Given the description of an element on the screen output the (x, y) to click on. 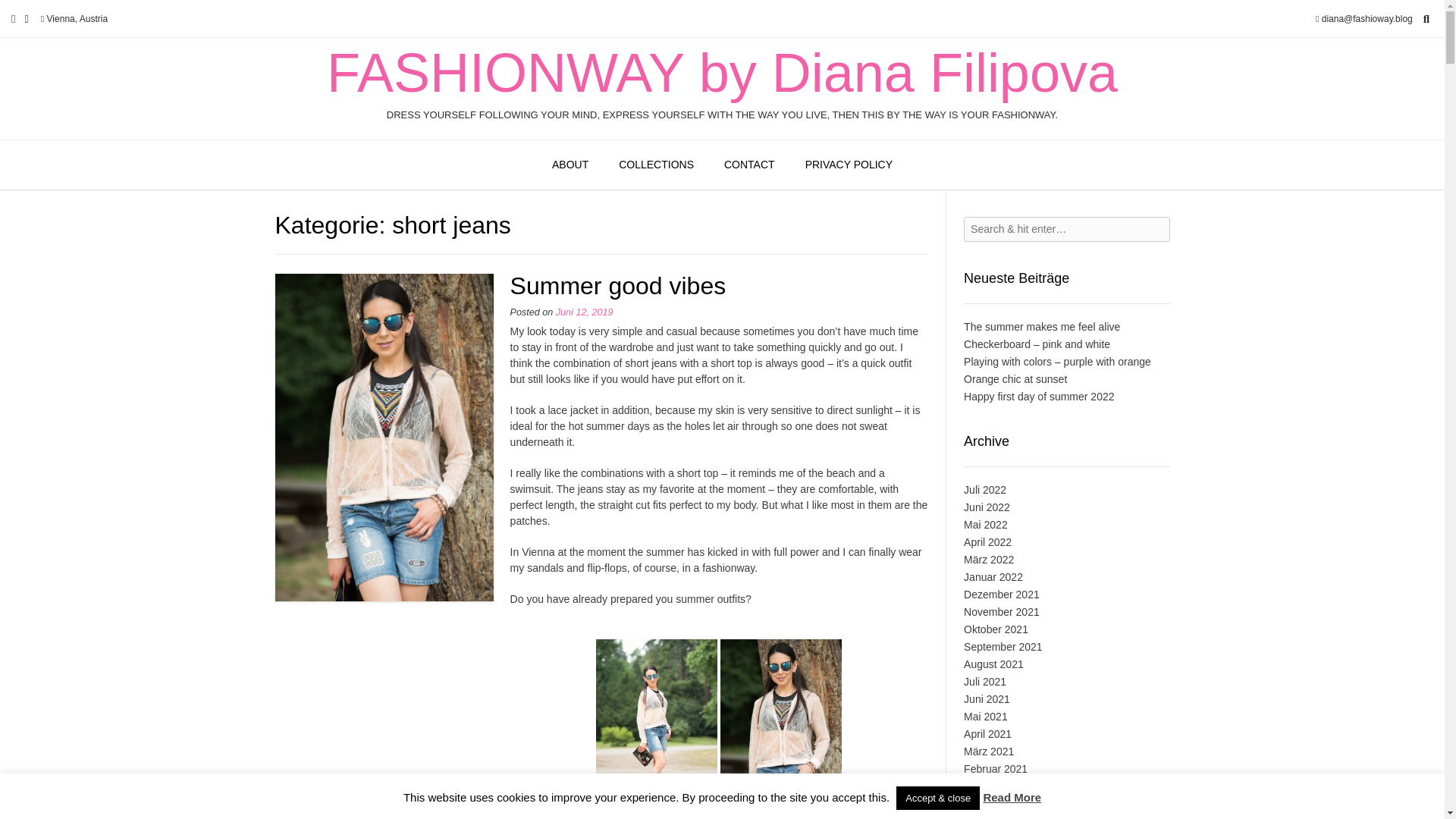
PRIVACY POLICY (848, 165)
Summer good vibes (618, 285)
Juni 12, 2019 (584, 312)
FASHIONWAY by Diana Filipova (722, 72)
CONTACT (749, 165)
COLLECTIONS (656, 165)
ABOUT (570, 165)
FASHIONWAY by Diana Filipova (722, 72)
